Given the description of an element on the screen output the (x, y) to click on. 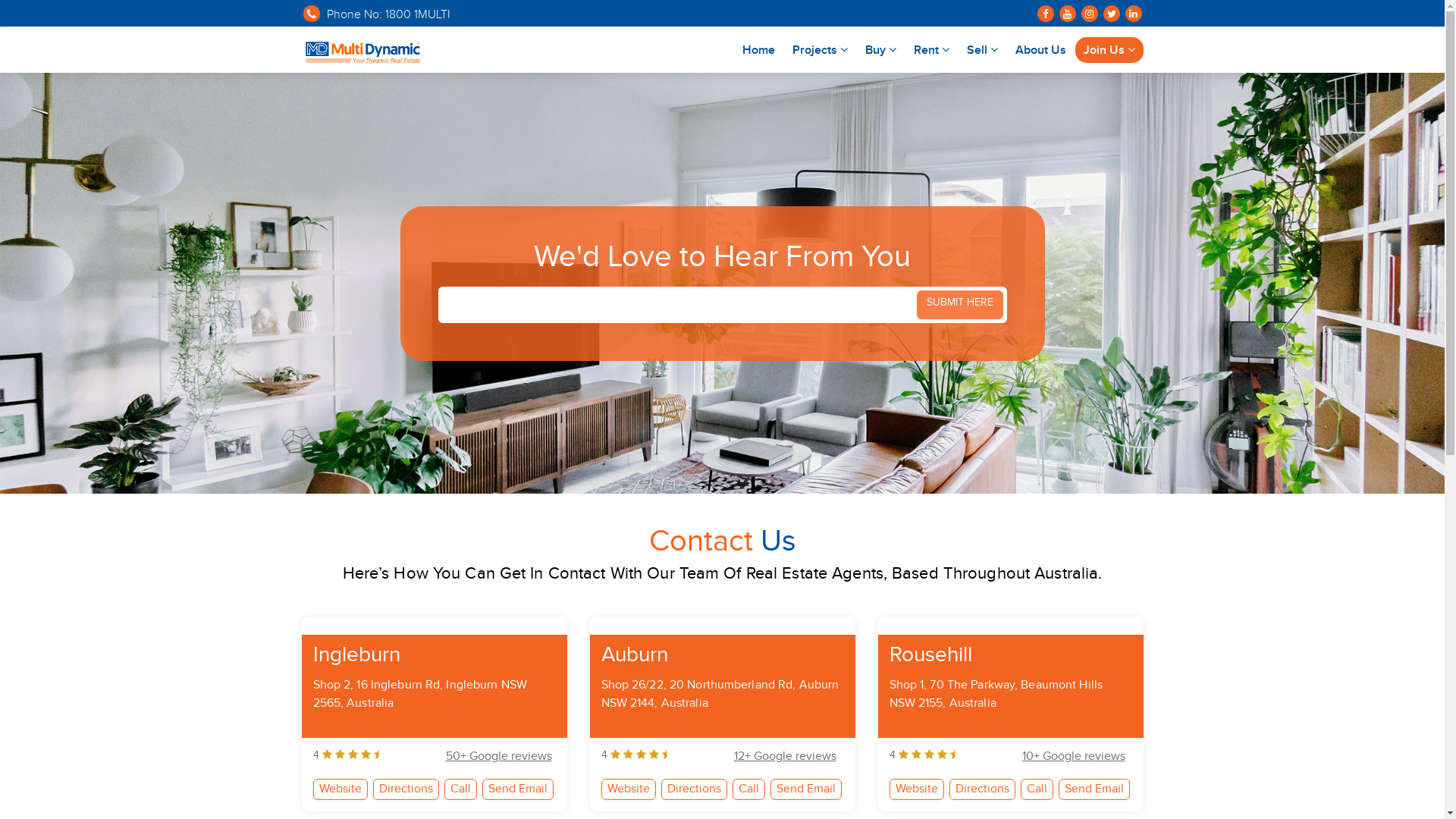
50+ Google reviews Element type: text (498, 758)
Website Element type: text (627, 789)
Rent Element type: text (931, 49)
Directions Element type: text (694, 789)
Phone No: 1800 1MULTI Element type: text (375, 16)
Directions Element type: text (982, 789)
Call Element type: text (460, 789)
Website Element type: text (339, 789)
12+ Google reviews Element type: text (785, 758)
Call Element type: text (1036, 789)
Website Element type: text (915, 789)
Send Email Element type: text (1093, 789)
SUBMIT HERE Element type: text (959, 303)
Directions Element type: text (406, 789)
Send Email Element type: text (805, 789)
10+ Google reviews Element type: text (1073, 758)
About Us Element type: text (1040, 49)
Join Us Element type: text (1109, 49)
Send Email Element type: text (517, 789)
Buy Element type: text (880, 49)
Call Element type: text (748, 789)
Sell Element type: text (982, 49)
Home
(current) Element type: text (758, 49)
Projects Element type: text (820, 49)
